Given the description of an element on the screen output the (x, y) to click on. 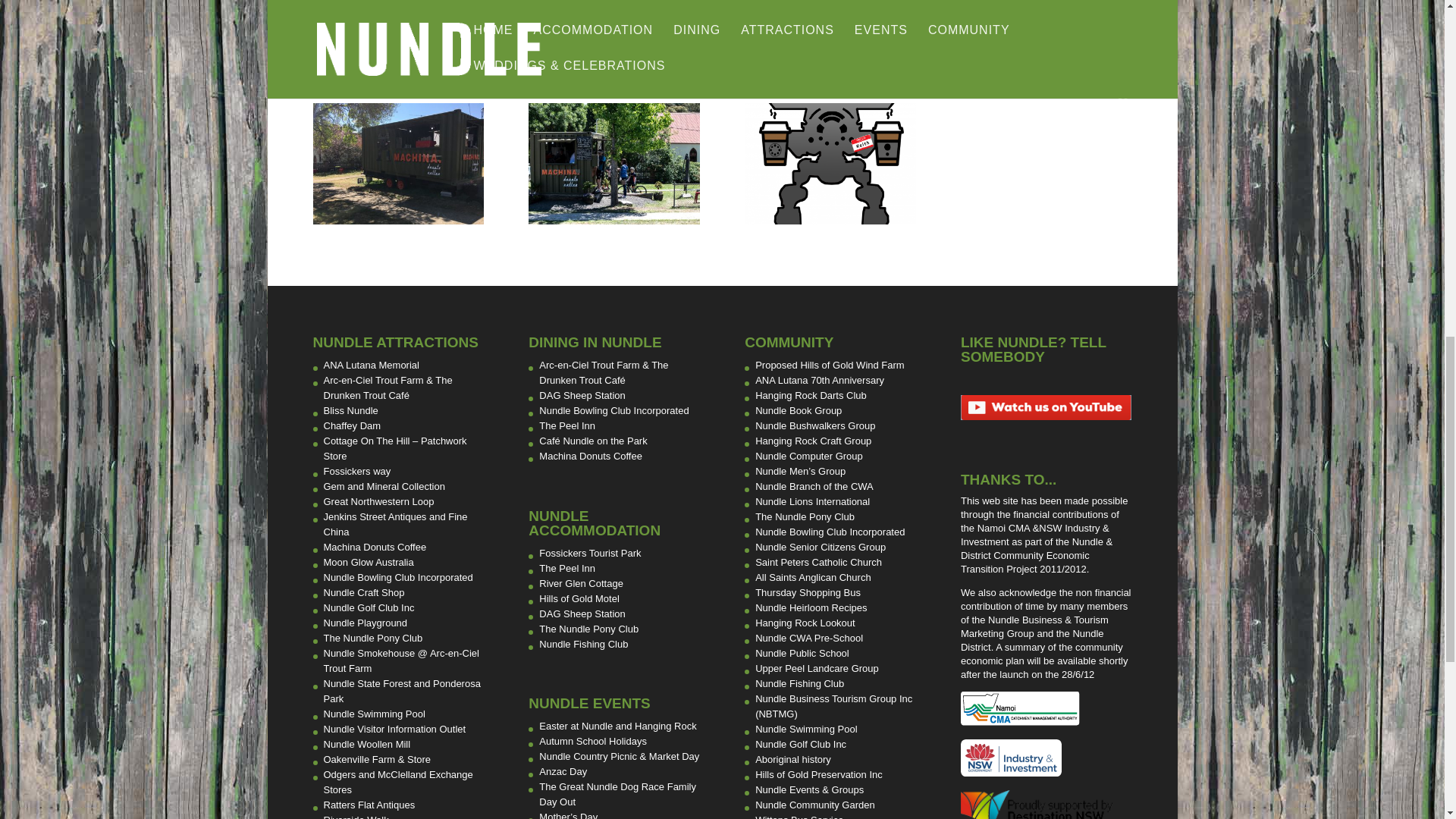
keith black steam (829, 219)
Chaffey Dam (351, 425)
Nundle Swimming Pool (374, 713)
2017springcyclists copy (398, 219)
Nundle Woollen Mill (366, 744)
2017springcyclists (613, 219)
ANA Lutana Memorial (371, 365)
Jenkins Street Antiques and Fine China (395, 524)
Nundle Craft Shop (363, 592)
Bliss Nundle (350, 410)
The Nundle Pony Club (372, 637)
Gem and Mineral Collection (383, 486)
Nundle State Forest and Ponderosa Park (401, 691)
Nundle Bowling Club Incorporated (397, 577)
Great Northwestern Loop (378, 501)
